Given the description of an element on the screen output the (x, y) to click on. 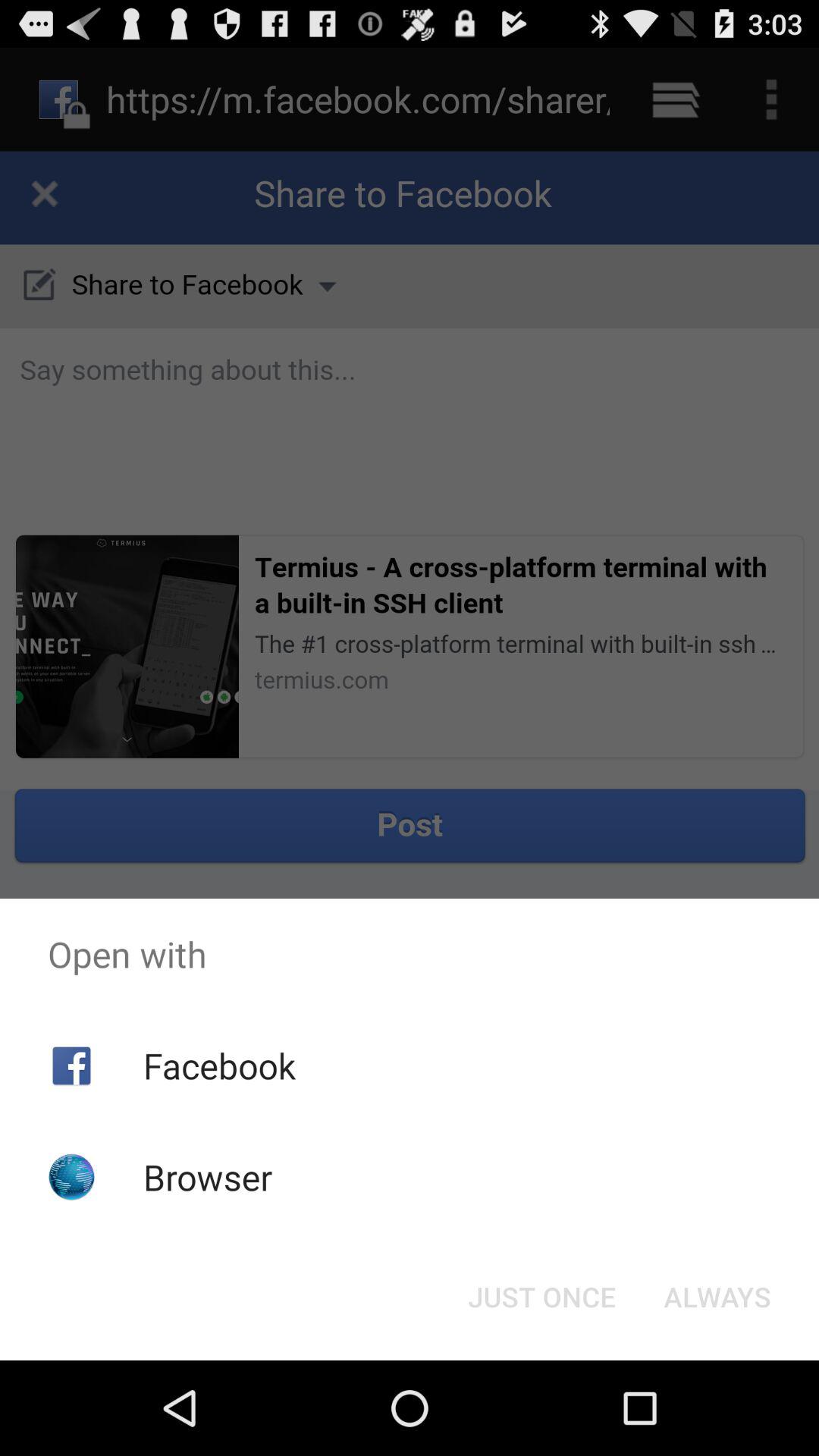
swipe to the facebook item (219, 1065)
